Given the description of an element on the screen output the (x, y) to click on. 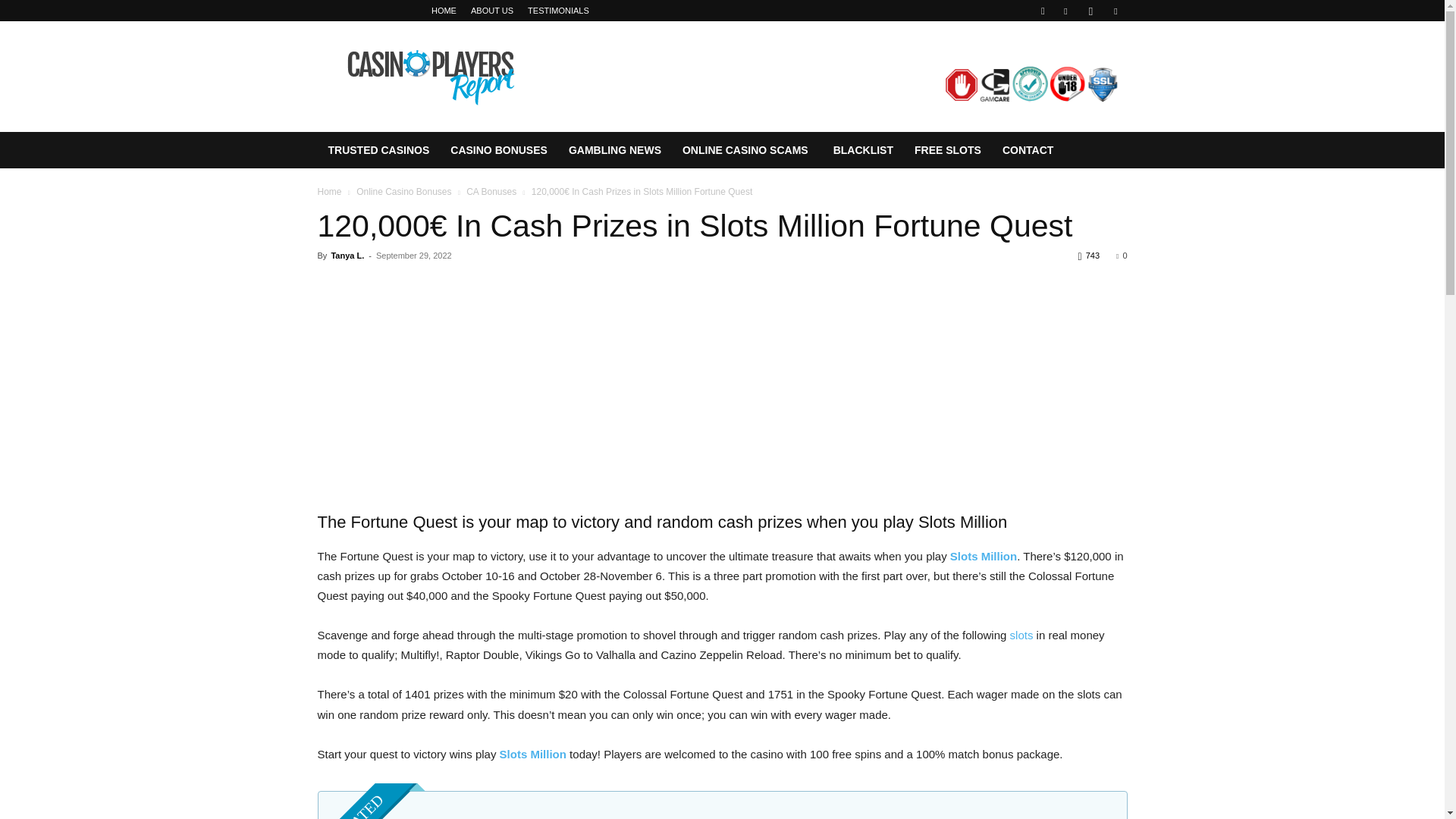
Twitter (1114, 10)
Facebook (1065, 10)
Instagram (1090, 10)
